Given the description of an element on the screen output the (x, y) to click on. 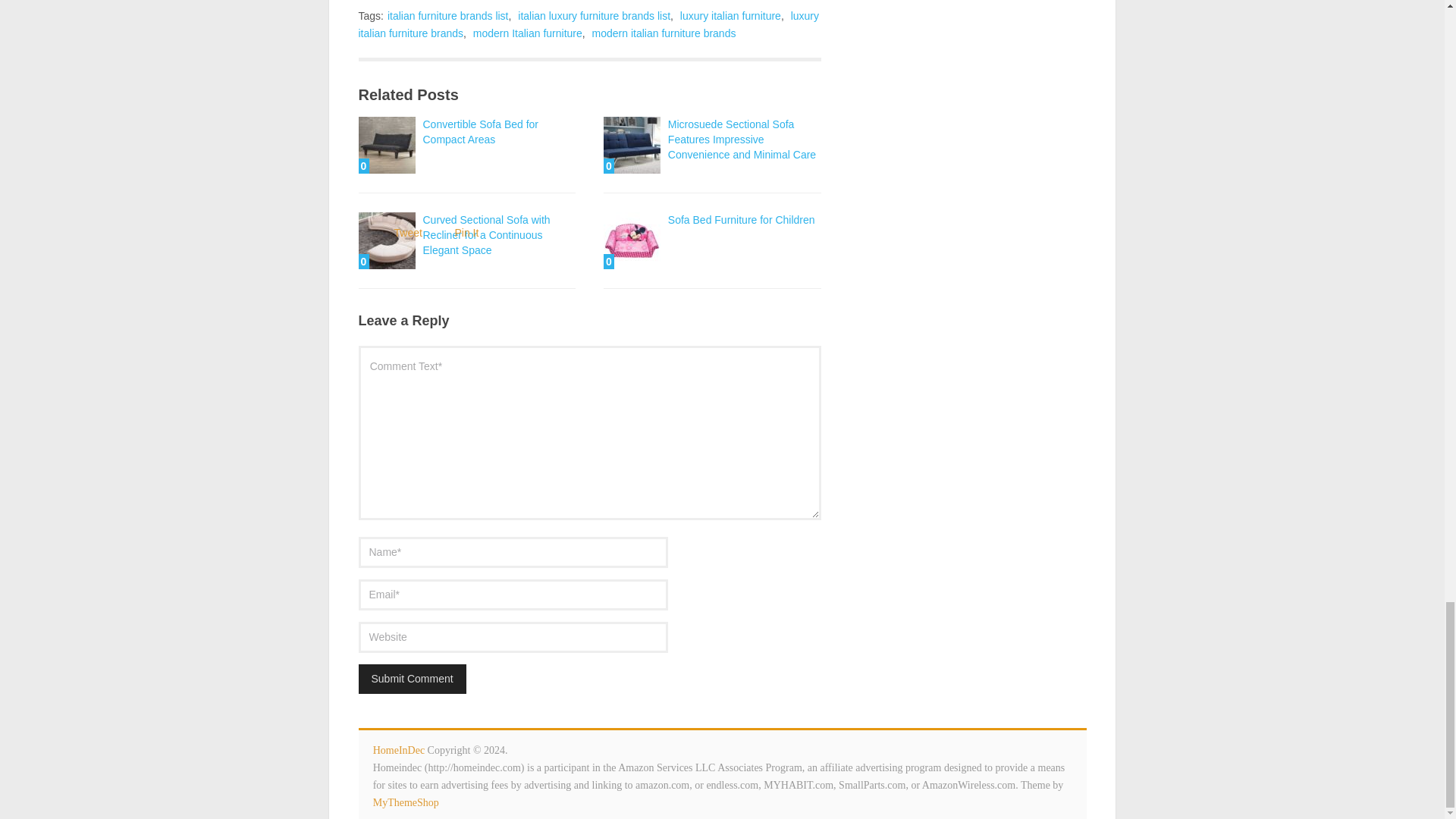
Submit Comment (411, 678)
Convertible Sofa Bed for Compact Areas (480, 131)
0 (632, 240)
0 (386, 240)
Sofa Bed Furniture for Children (632, 240)
Sofa Bed Furniture for Children (741, 219)
Submit Comment (411, 678)
